Given the description of an element on the screen output the (x, y) to click on. 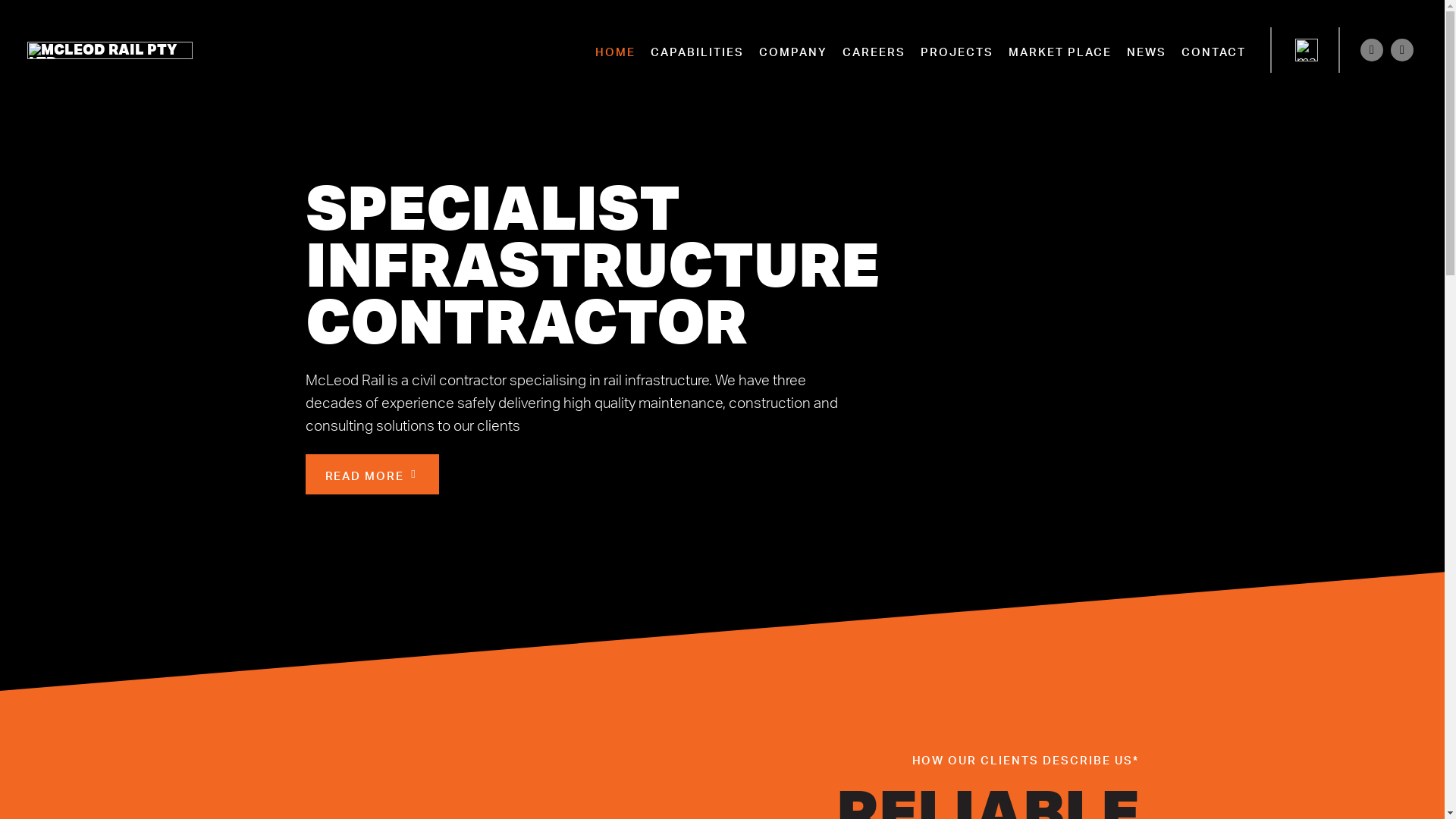
NEWS Element type: text (1146, 49)
magnify Element type: hover (1306, 49)
MARKET PLACE Element type: text (1060, 49)
READ MORE Element type: text (371, 474)
CONTACT Element type: text (1213, 49)
LinkedIn Element type: hover (1401, 49)
CAREERS Element type: text (873, 49)
McLeod Rail Pty Ltd Element type: hover (109, 49)
HOME Element type: text (615, 49)
PROJECTS Element type: text (957, 49)
Facebook Element type: hover (1371, 49)
COMPANY Element type: text (792, 49)
CAPABILITIES Element type: text (697, 49)
